Given the description of an element on the screen output the (x, y) to click on. 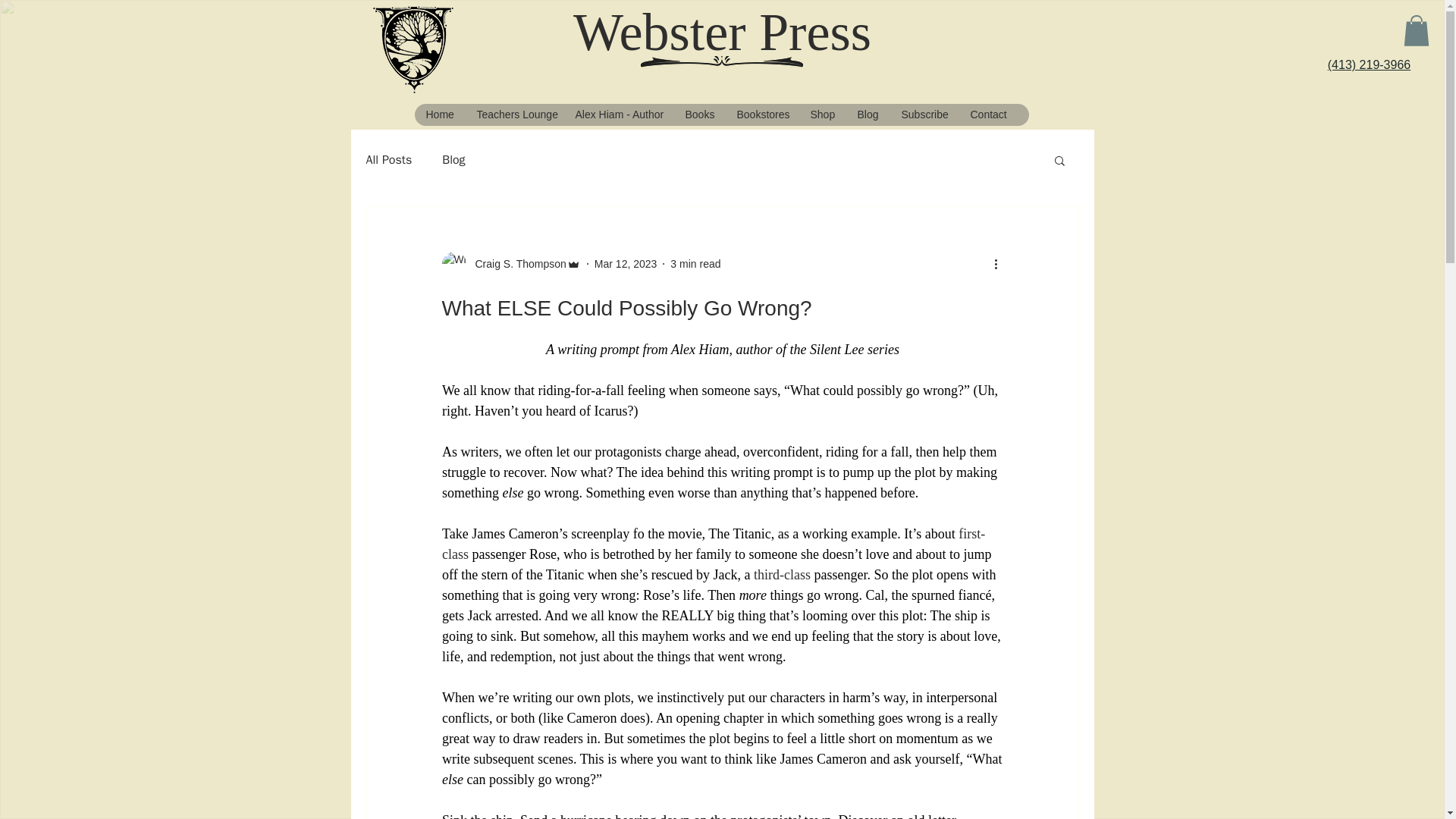
Subscribe (923, 115)
Books (698, 115)
Alex Hiam - Author (617, 115)
Blog (866, 115)
All Posts (388, 159)
Bookstores (761, 115)
3 min read (694, 263)
Teachers Lounge (513, 115)
Shop (820, 115)
Contact (987, 115)
Mar 12, 2023 (626, 263)
Craig S. Thompson (515, 263)
Craig S. Thompson (510, 263)
Webster Press (721, 32)
Home (438, 115)
